Given the description of an element on the screen output the (x, y) to click on. 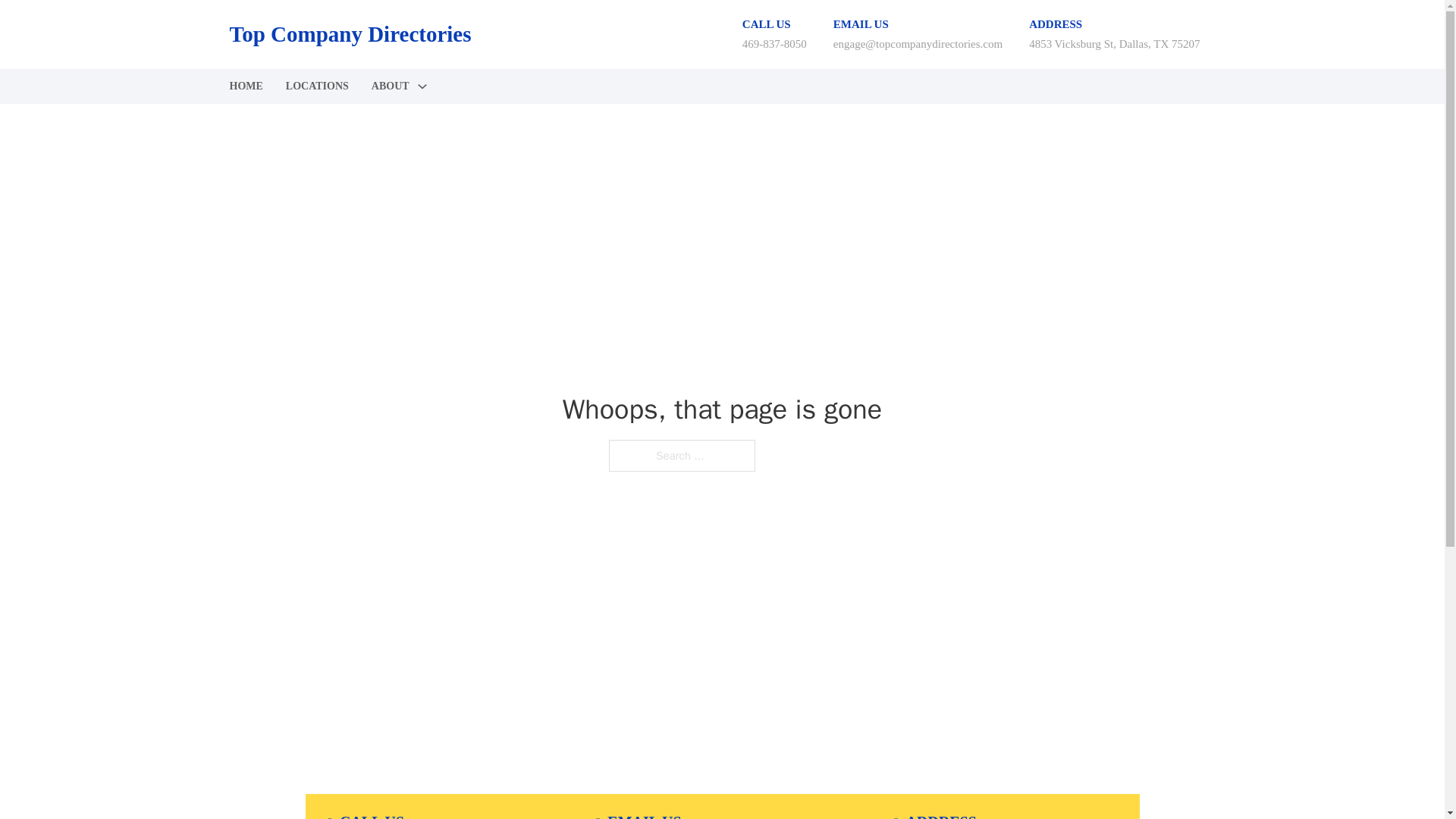
469-837-8050 (774, 43)
LOCATIONS (317, 85)
Top Company Directories (349, 34)
HOME (245, 85)
